Given the description of an element on the screen output the (x, y) to click on. 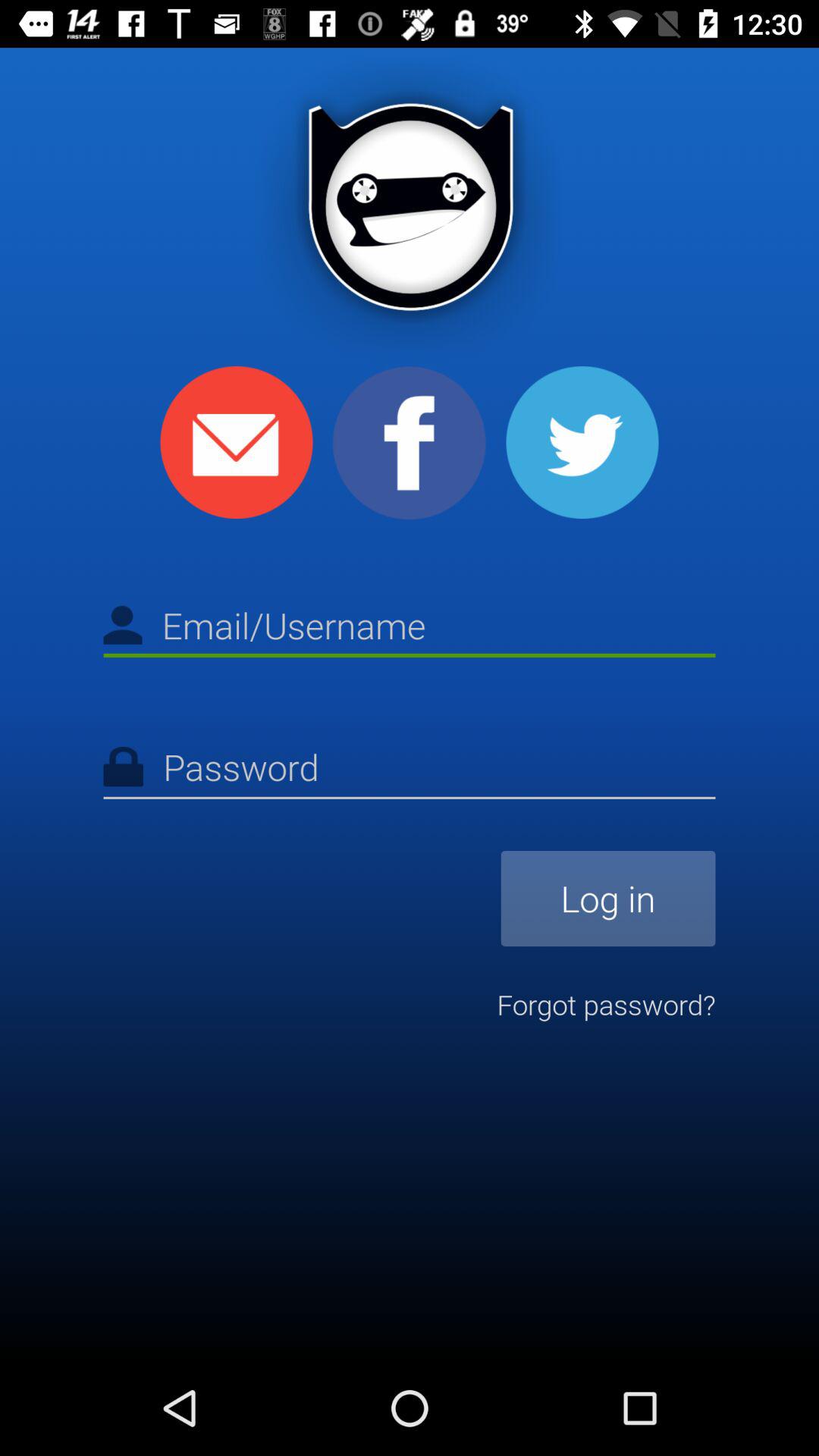
type the email or username (409, 628)
